Given the description of an element on the screen output the (x, y) to click on. 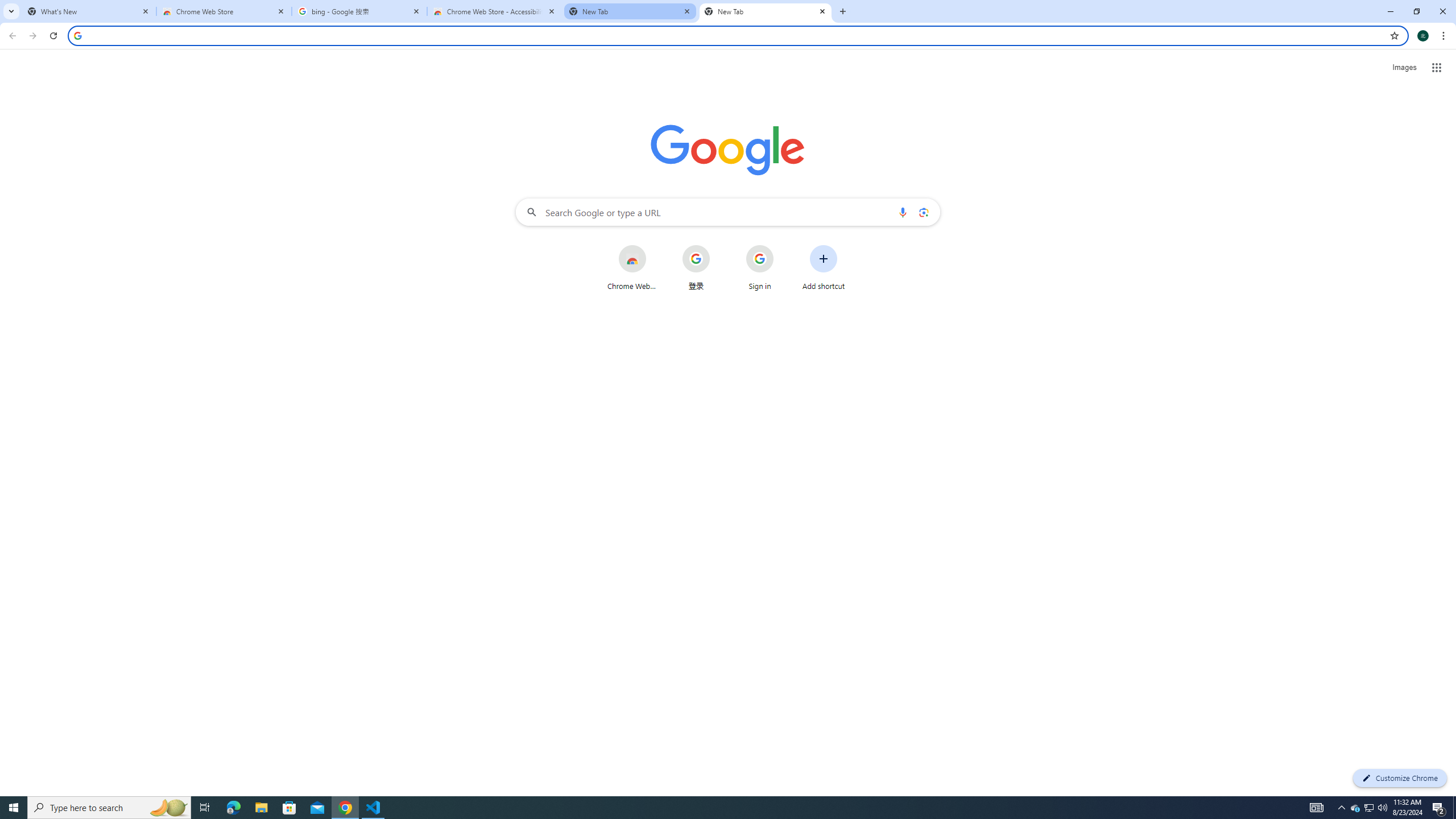
Search by voice (902, 212)
